Given the description of an element on the screen output the (x, y) to click on. 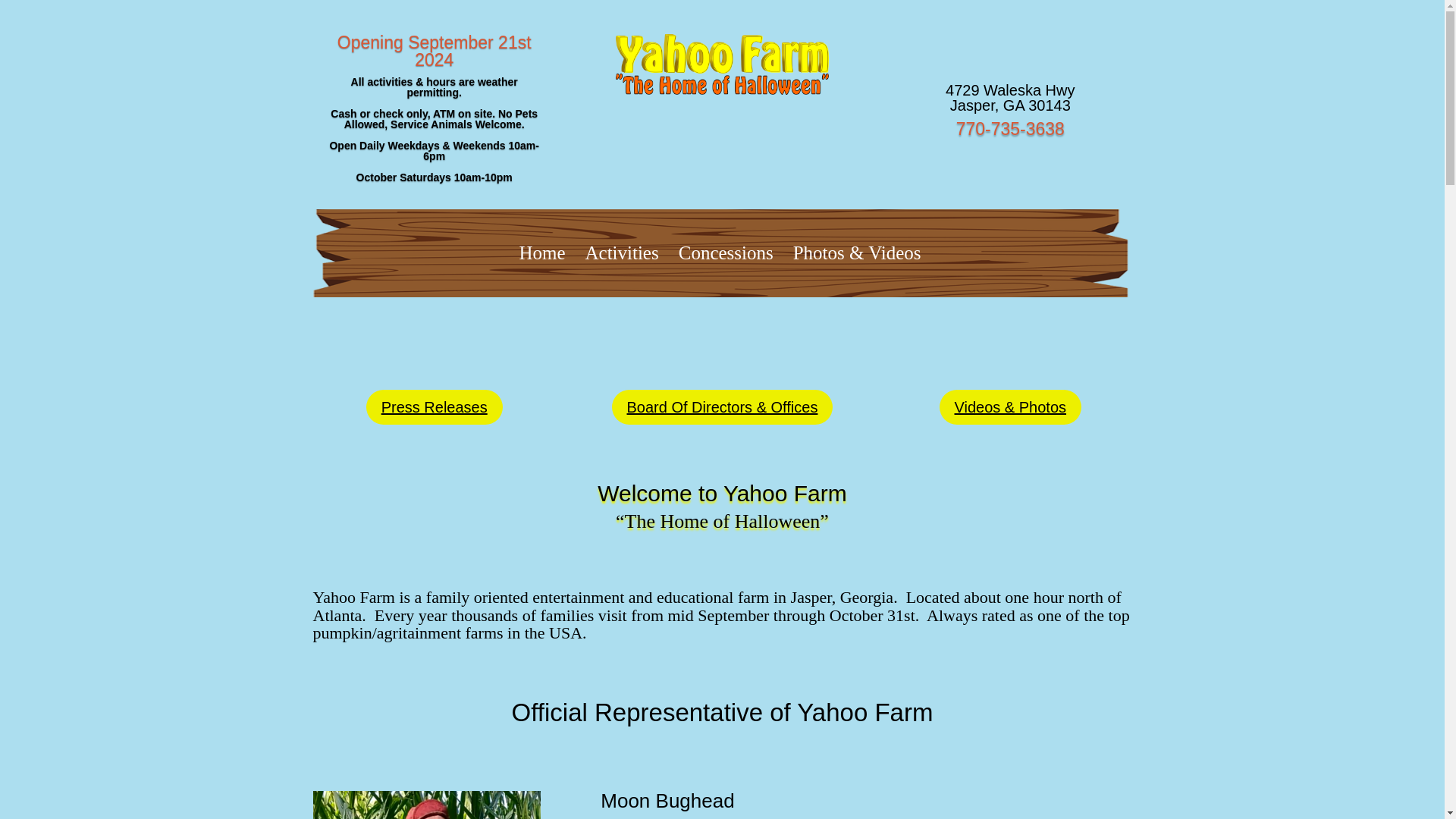
Home (541, 253)
Activities (620, 253)
Press Releases (434, 407)
Yahoo Farm Logo (721, 53)
the home of halloween text (721, 84)
Screenshot 2024-05-22 131749 (426, 805)
Concessions (725, 253)
